Given the description of an element on the screen output the (x, y) to click on. 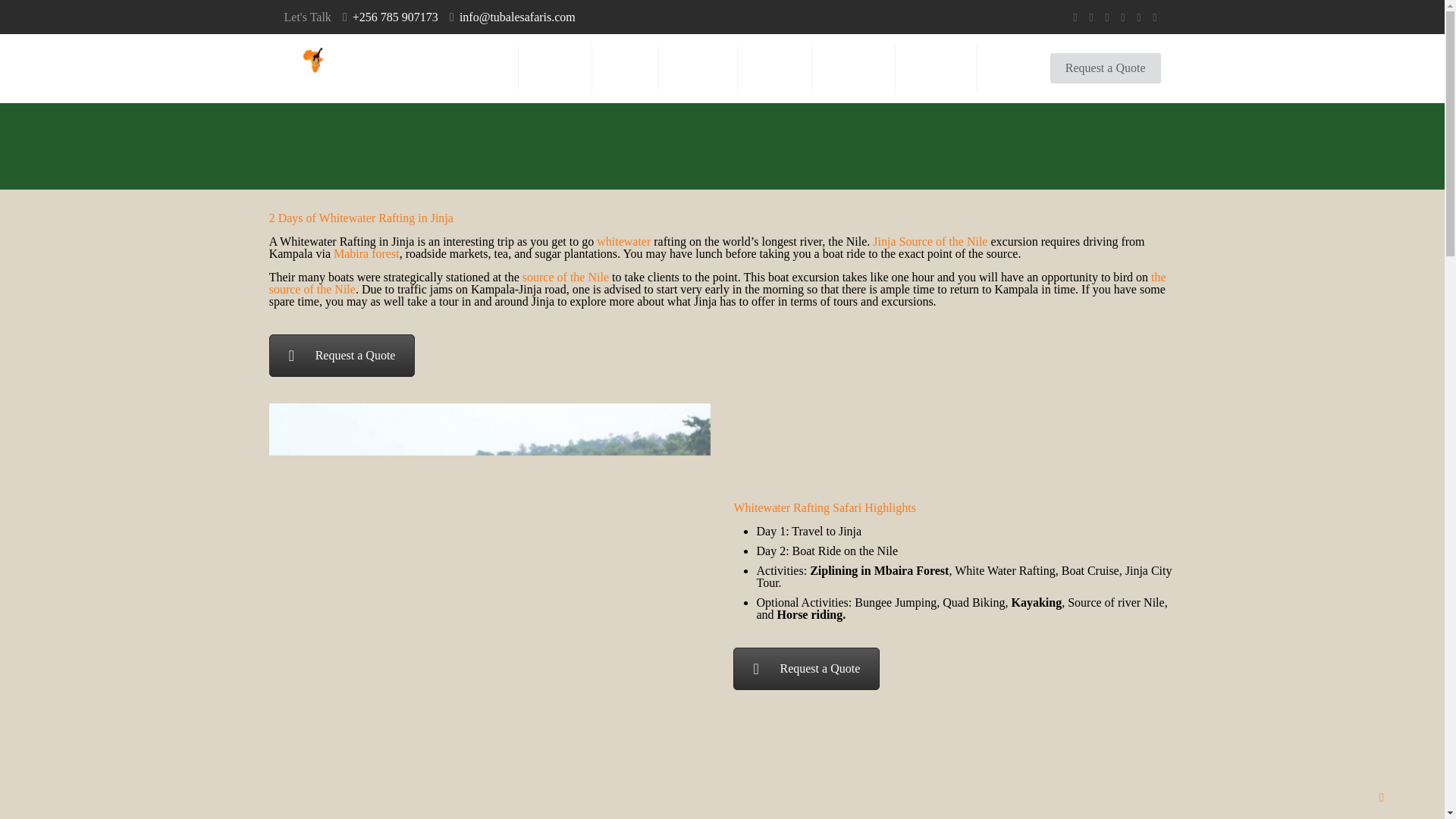
YouTube (1123, 17)
Uganda (555, 68)
Home (486, 68)
WhatsApp (1074, 17)
Facebook (1091, 17)
Instagram (1138, 17)
Tripadvisor (1155, 17)
